Given the description of an element on the screen output the (x, y) to click on. 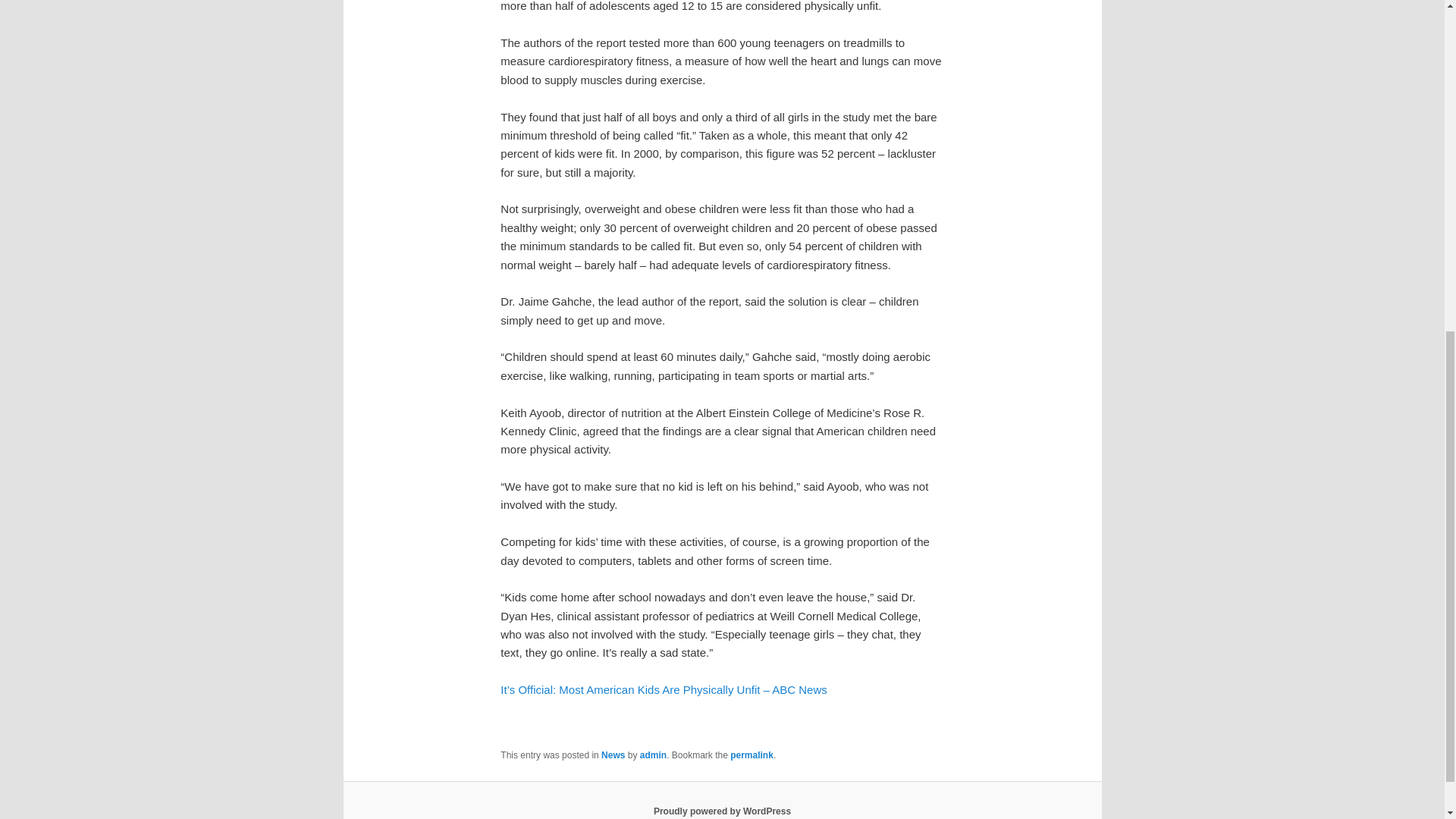
Proudly powered by WordPress (721, 810)
Semantic Personal Publishing Platform (721, 810)
admin (653, 755)
News (612, 755)
permalink (751, 755)
